Given the description of an element on the screen output the (x, y) to click on. 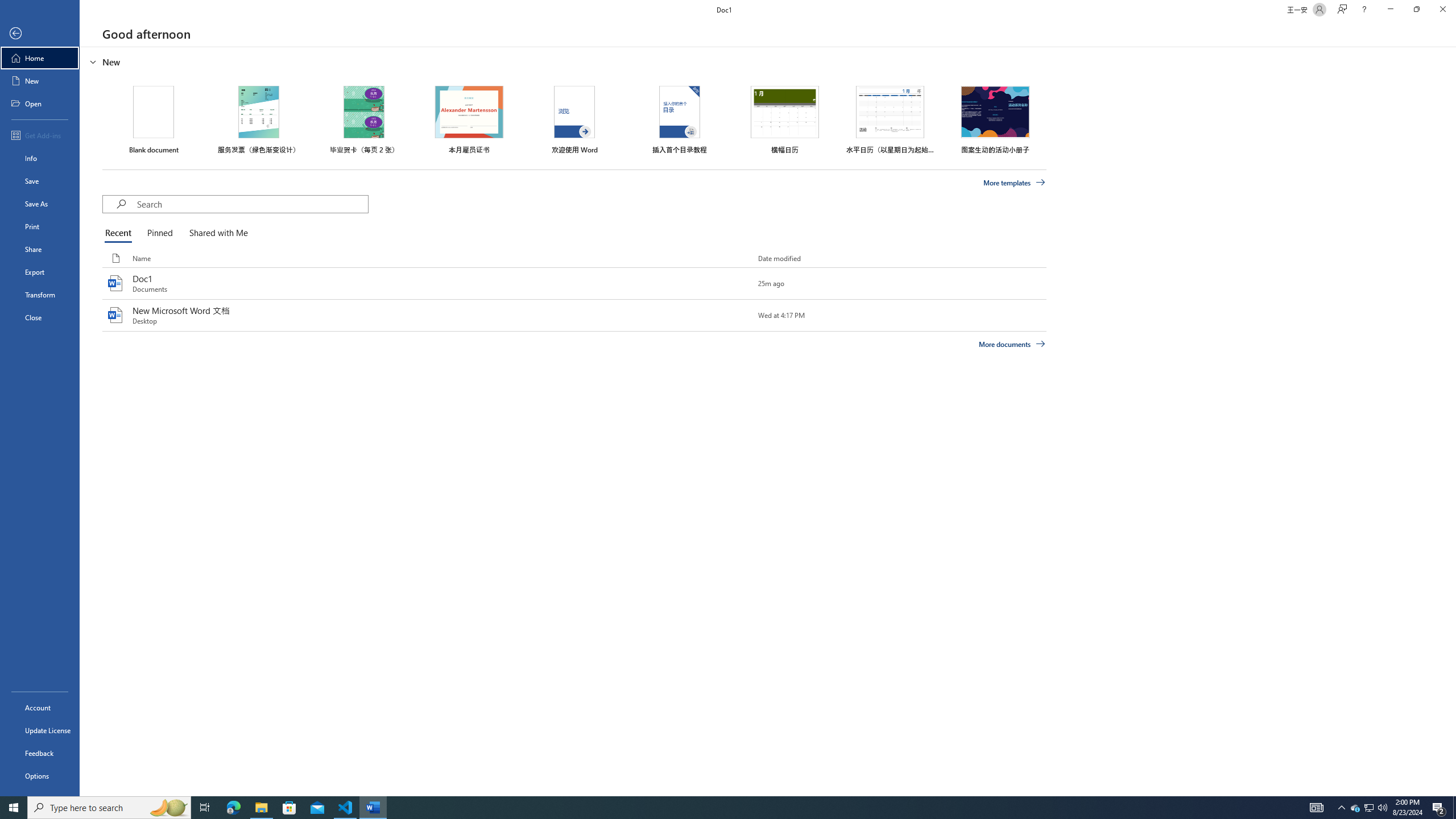
Feedback (40, 753)
Minimize (1390, 9)
Save (40, 180)
Export (40, 271)
Share (40, 248)
Close (40, 317)
Account (40, 707)
Save As (40, 203)
More templates (1014, 182)
Doc1 (573, 283)
More documents (1011, 343)
Help (1364, 9)
